Given the description of an element on the screen output the (x, y) to click on. 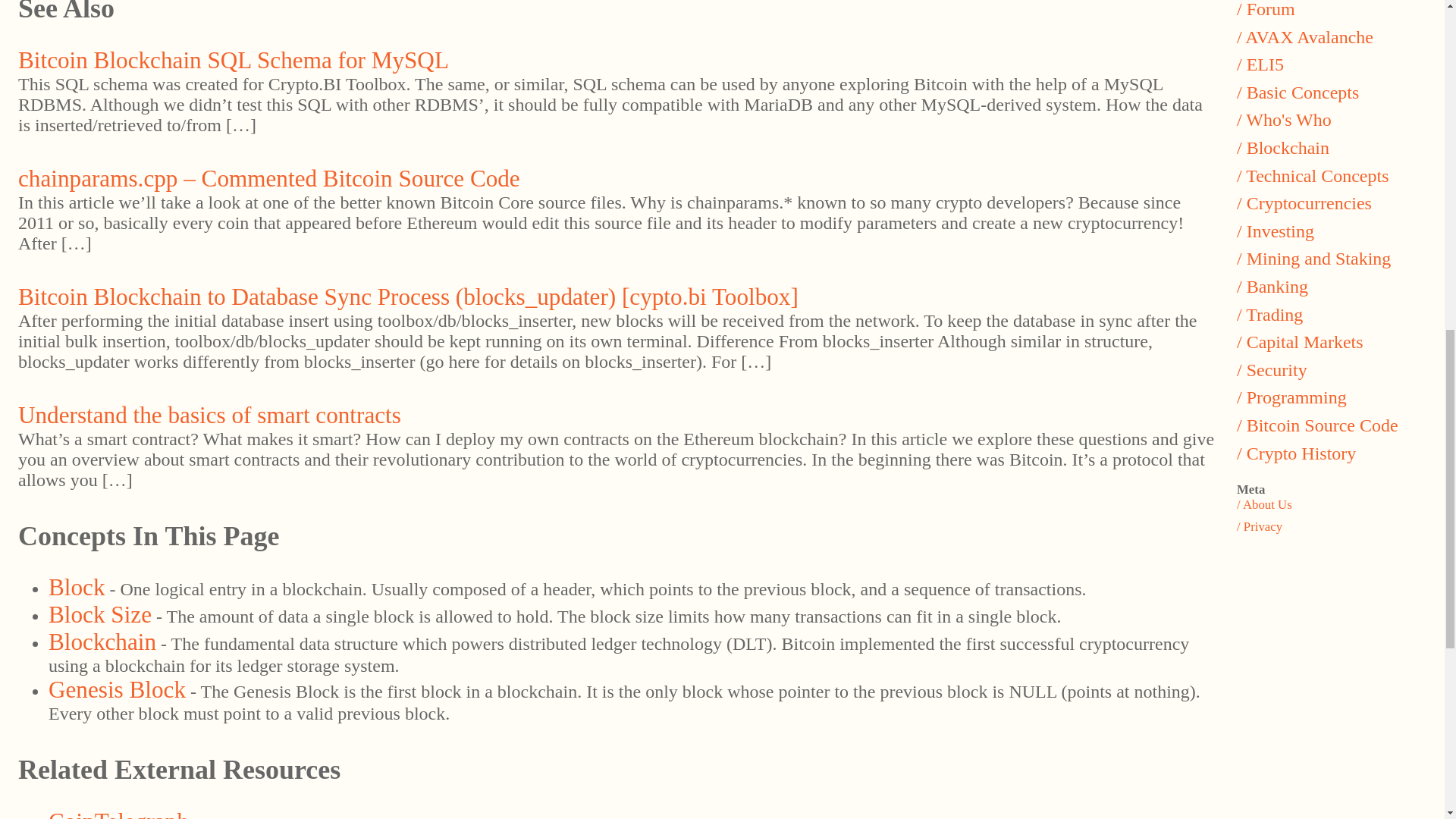
Block Size (99, 614)
Bitcoin Blockchain SQL Schema for MySQL (232, 59)
Understand the basics of smart contracts (209, 415)
CoinTelegraph (118, 813)
Block (76, 587)
Blockchain (101, 641)
Genesis Block (117, 689)
